Given the description of an element on the screen output the (x, y) to click on. 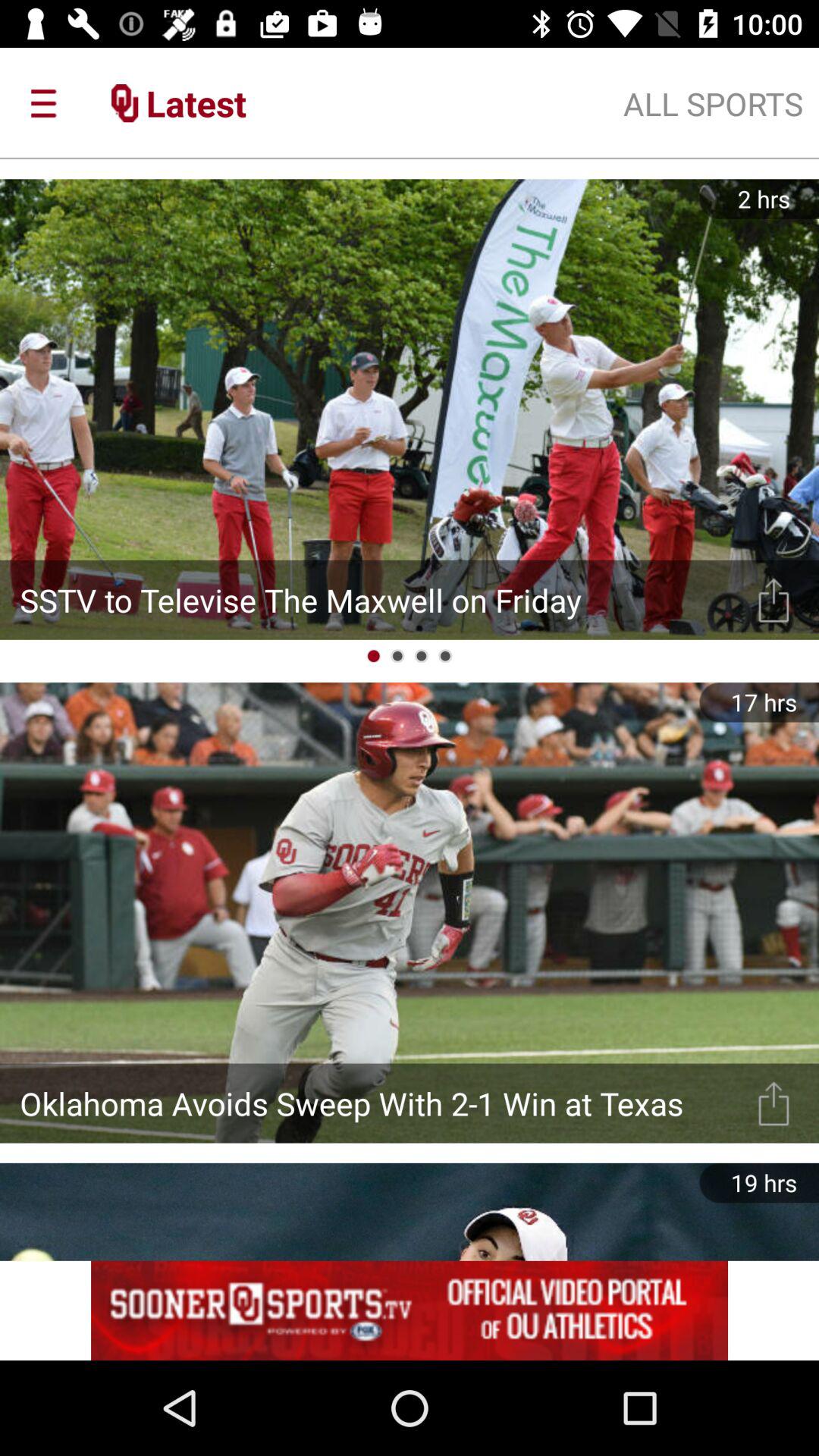
go to advertisement (409, 1310)
